Given the description of an element on the screen output the (x, y) to click on. 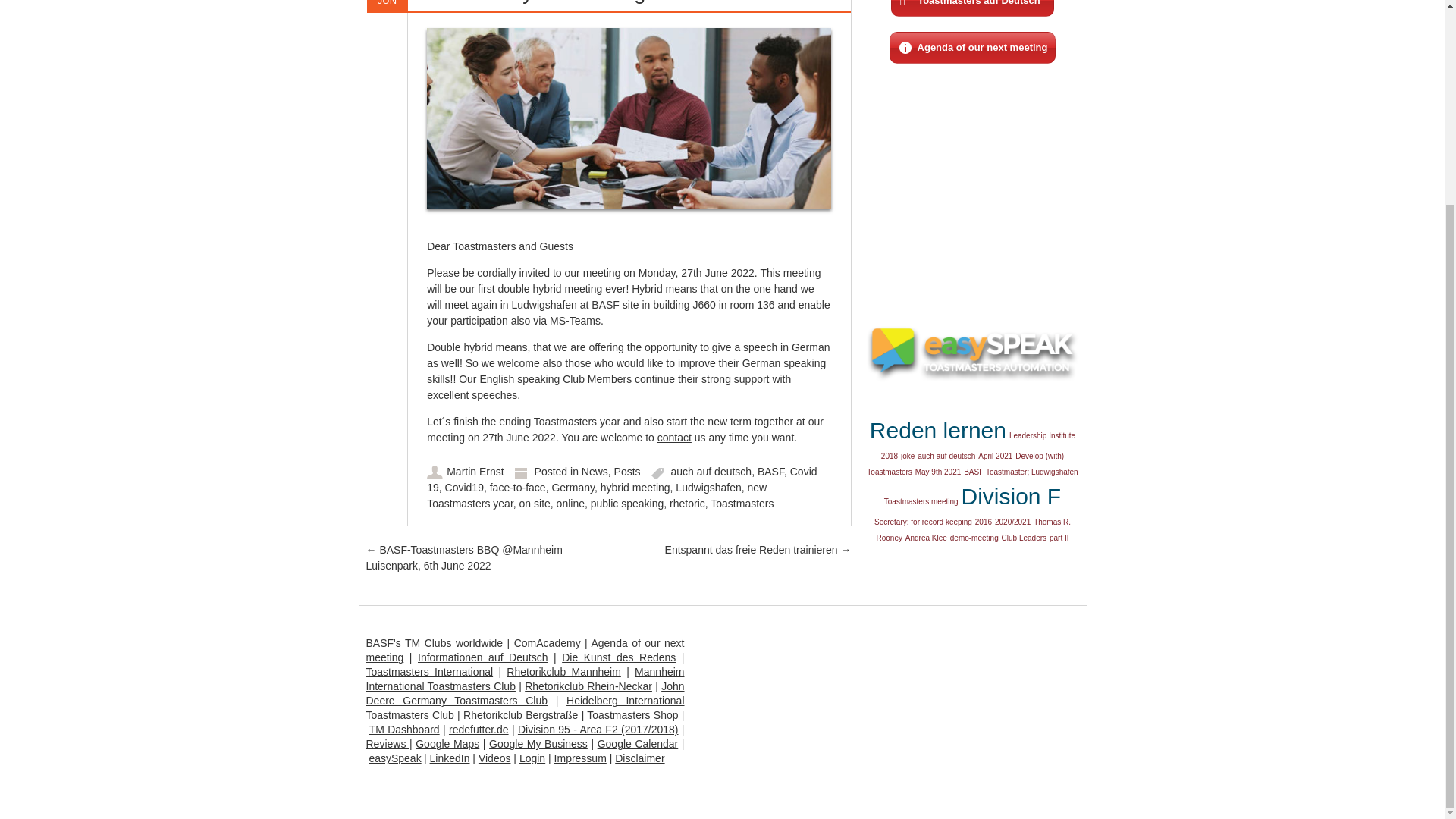
1 topic (994, 456)
1 topic (907, 456)
Germany (572, 487)
Covid 19 (621, 479)
face-to-face (517, 487)
1 topic (937, 471)
Martin Ernst (474, 471)
April 2021 (994, 456)
contact (674, 437)
1 topic (946, 456)
hybrid meeting (634, 487)
on site (534, 503)
Agenda of our next meeting (973, 47)
2 topics (937, 430)
Ludwigshafen (708, 487)
